Given the description of an element on the screen output the (x, y) to click on. 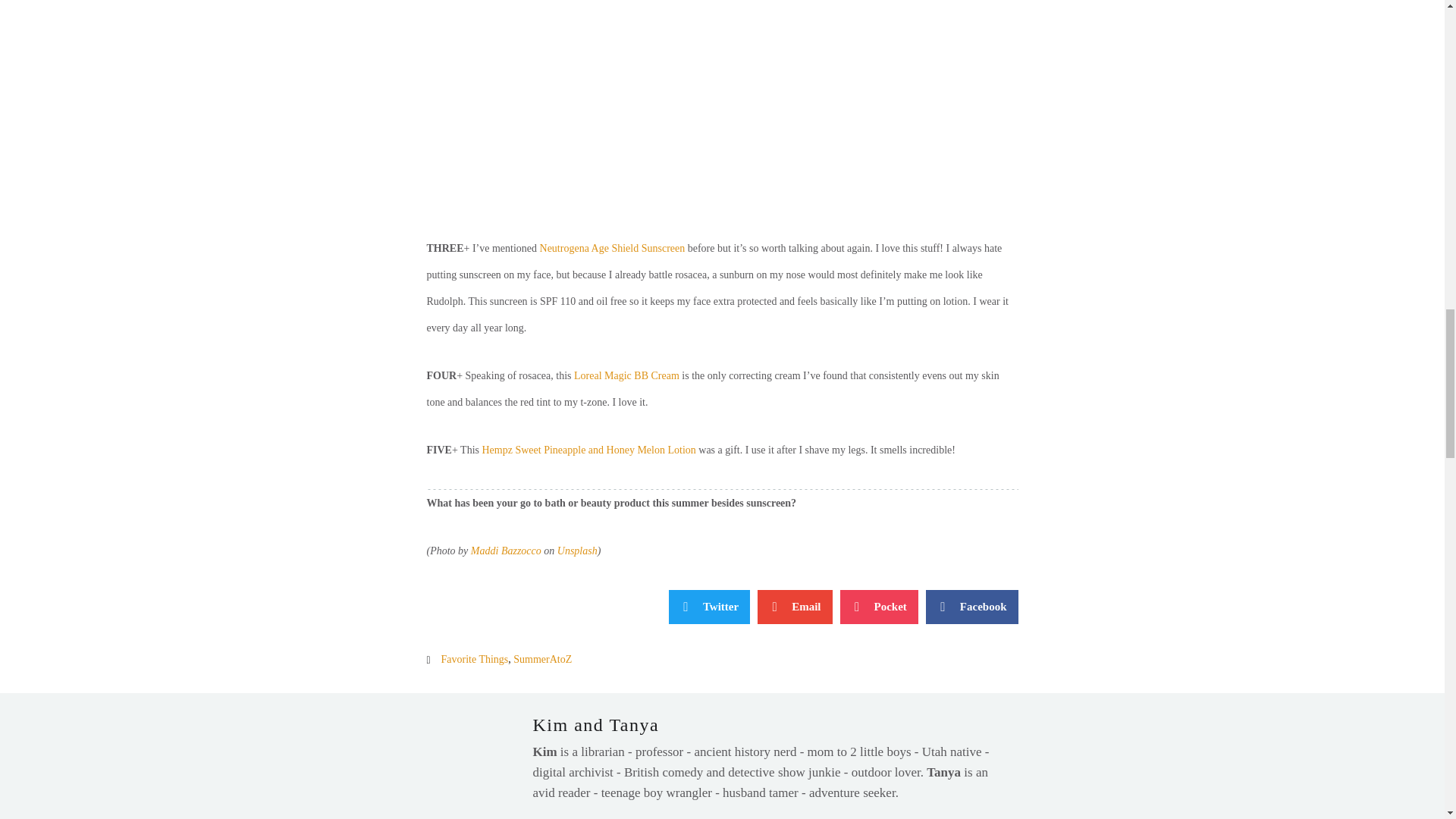
Loreal Magic BB Cream (626, 375)
Favorite Things (474, 659)
Hempz Sweet Pineapple and Honey Melon Lotion (588, 449)
Unsplash (576, 550)
Neutrogena Age Shield Sunscreen (612, 247)
SummerAtoZ (542, 659)
Maddi Bazzocco (505, 550)
